Given the description of an element on the screen output the (x, y) to click on. 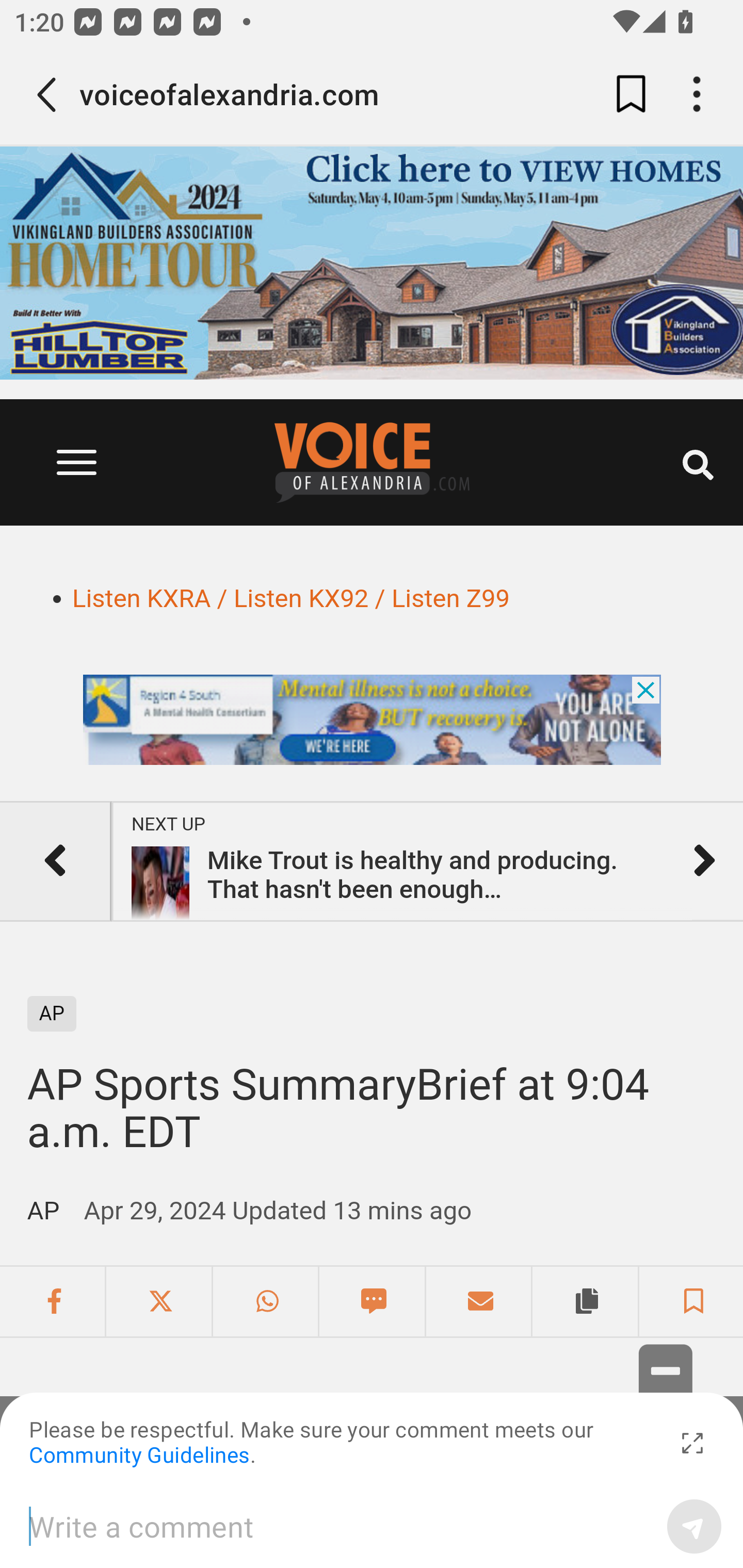
Write a comment (340, 1526)
